Given the description of an element on the screen output the (x, y) to click on. 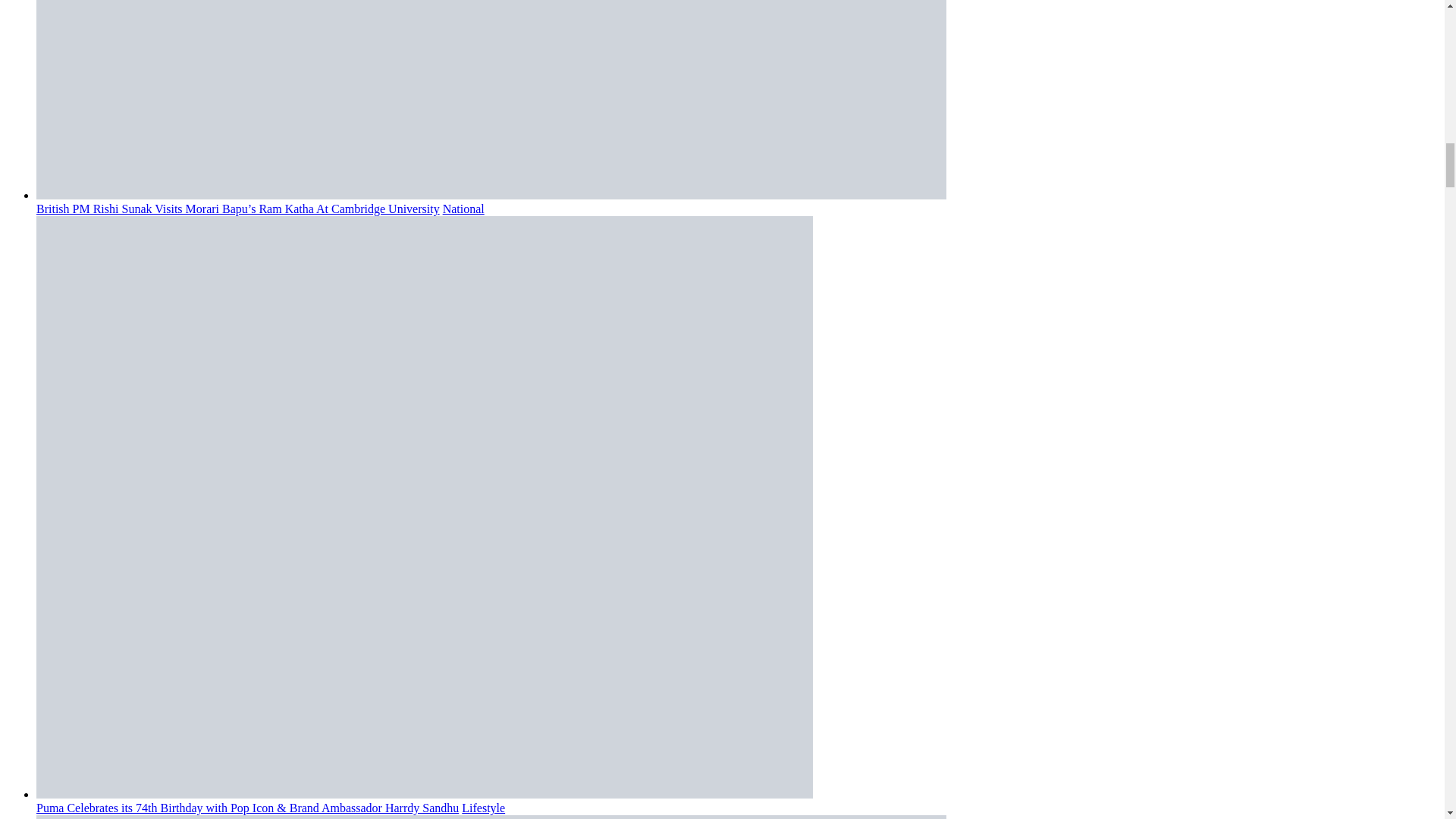
National (463, 208)
Lifestyle (483, 807)
